Given the description of an element on the screen output the (x, y) to click on. 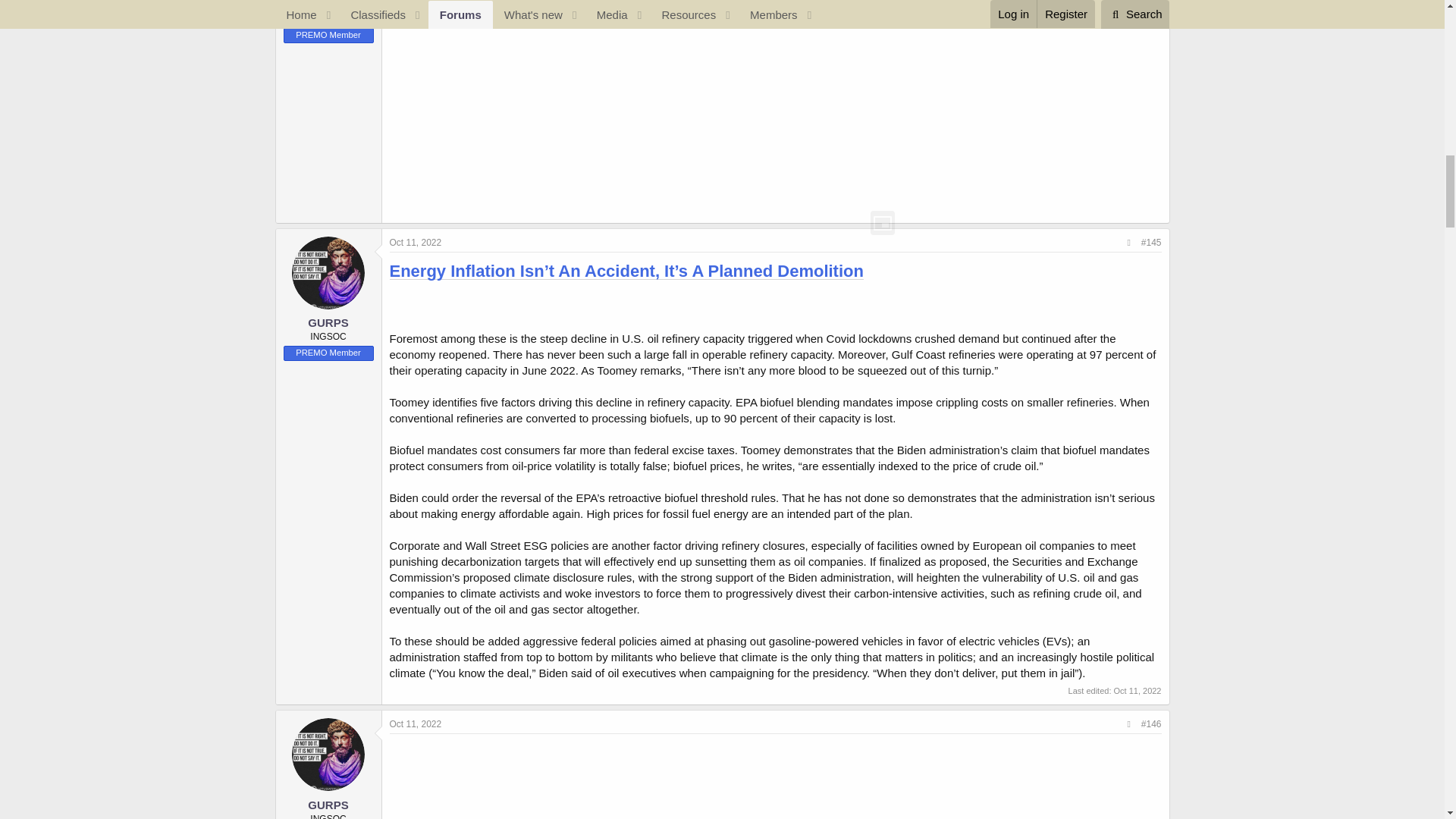
Oct 11, 2022 at 6:38 AM (416, 242)
Oct 11, 2022 at 7:56 AM (416, 724)
Oct 11, 2022 at 6:45 AM (1136, 690)
